Given the description of an element on the screen output the (x, y) to click on. 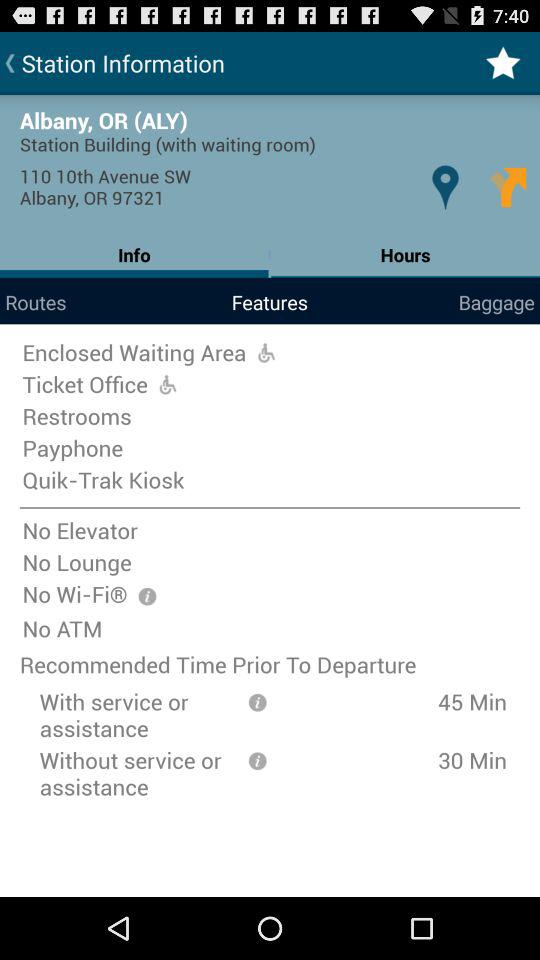
select the icon above the hours (444, 186)
